Given the description of an element on the screen output the (x, y) to click on. 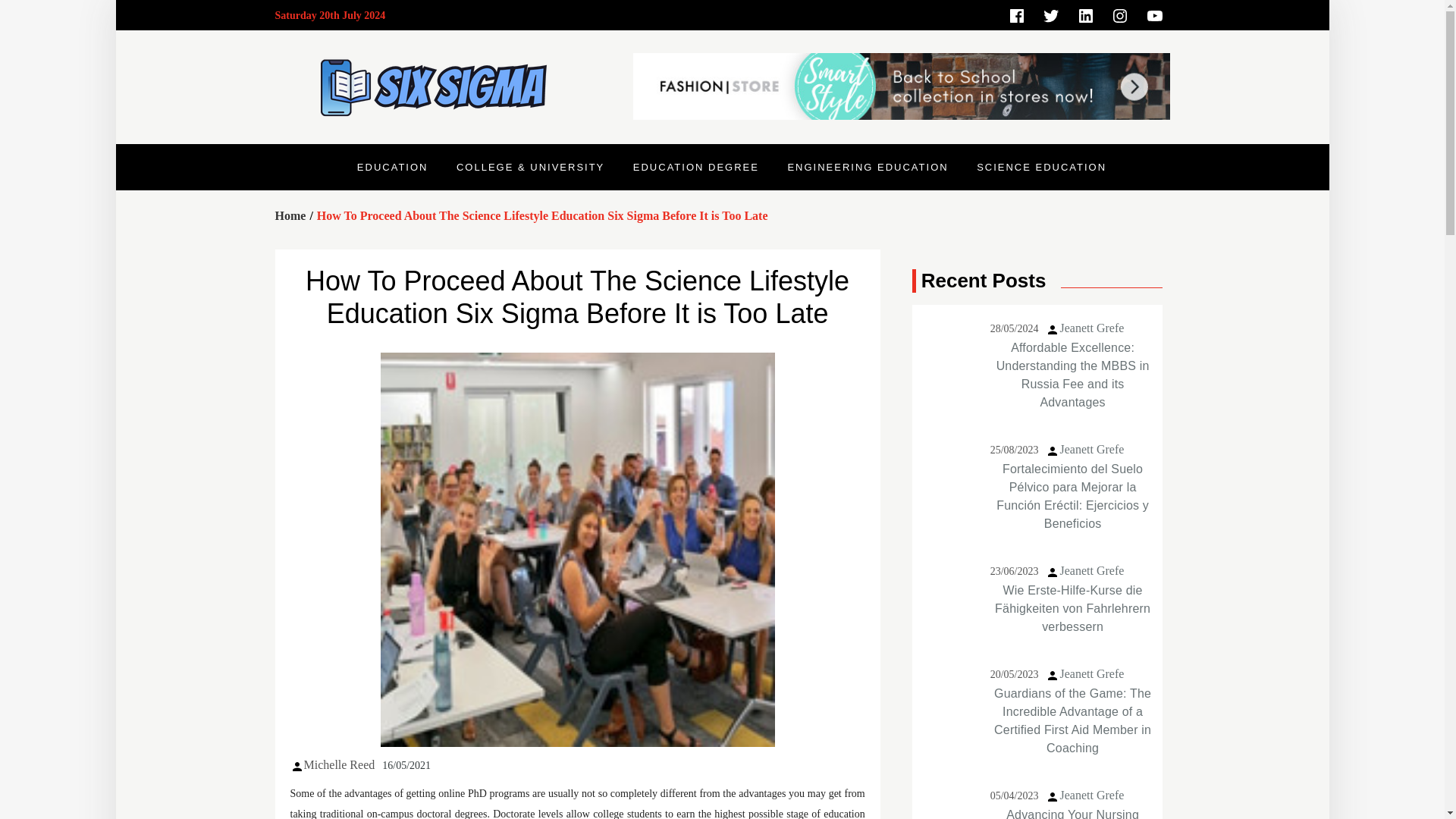
EDUCATION (392, 167)
SCIENCE EDUCATION (1041, 167)
Instagram (1120, 15)
ENGINEERING EDUCATION (867, 167)
Michelle Reed (338, 764)
EDUCATION DEGREE (695, 167)
Advancing Your Nursing Career (948, 798)
Linkedin (1085, 15)
Youtube (1153, 15)
Jeanett Grefe (1091, 570)
Jeanett Grefe (1091, 327)
Twitter (1050, 15)
